Given the description of an element on the screen output the (x, y) to click on. 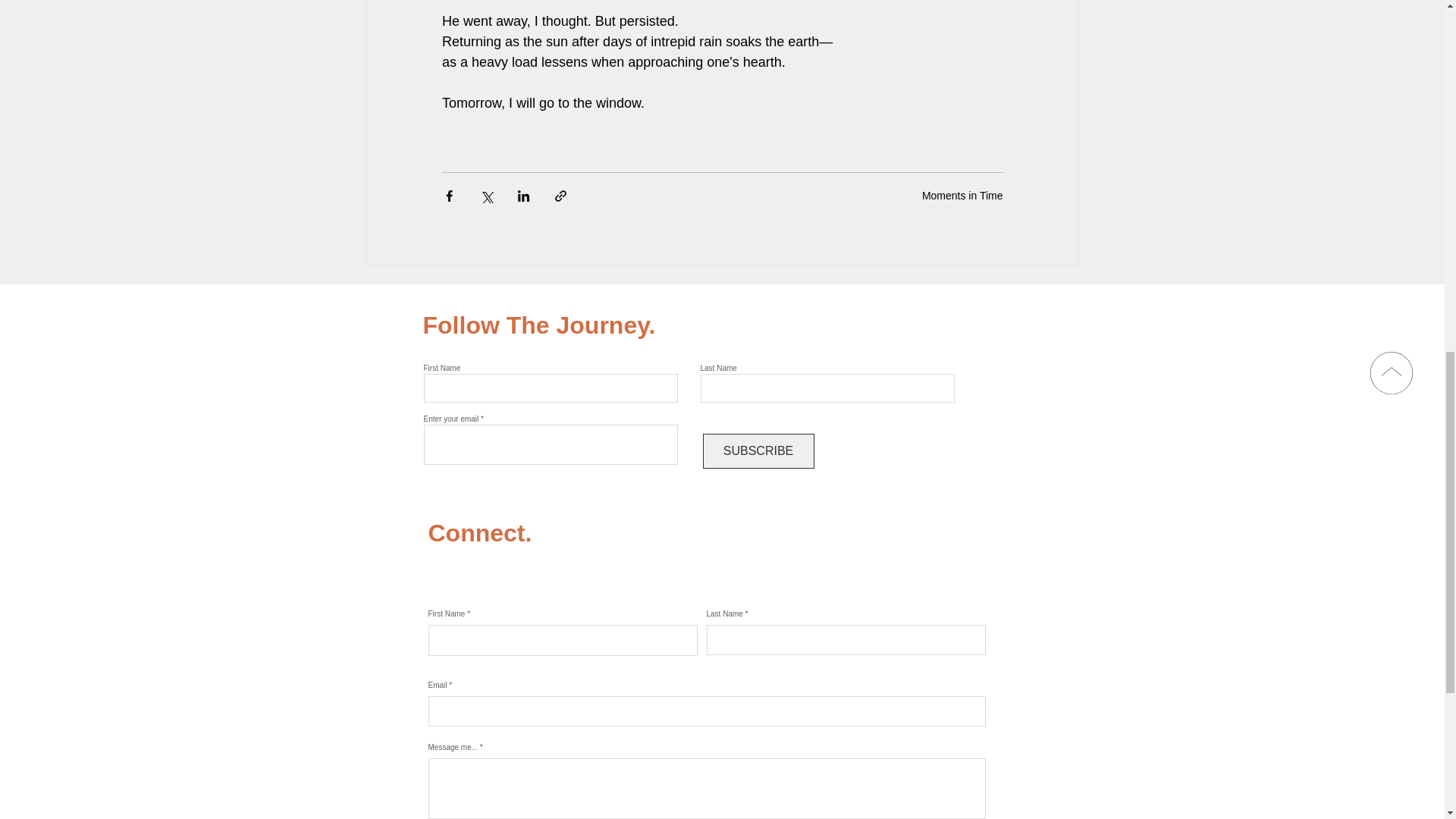
Moments in Time (962, 195)
SUBSCRIBE (757, 451)
